Given the description of an element on the screen output the (x, y) to click on. 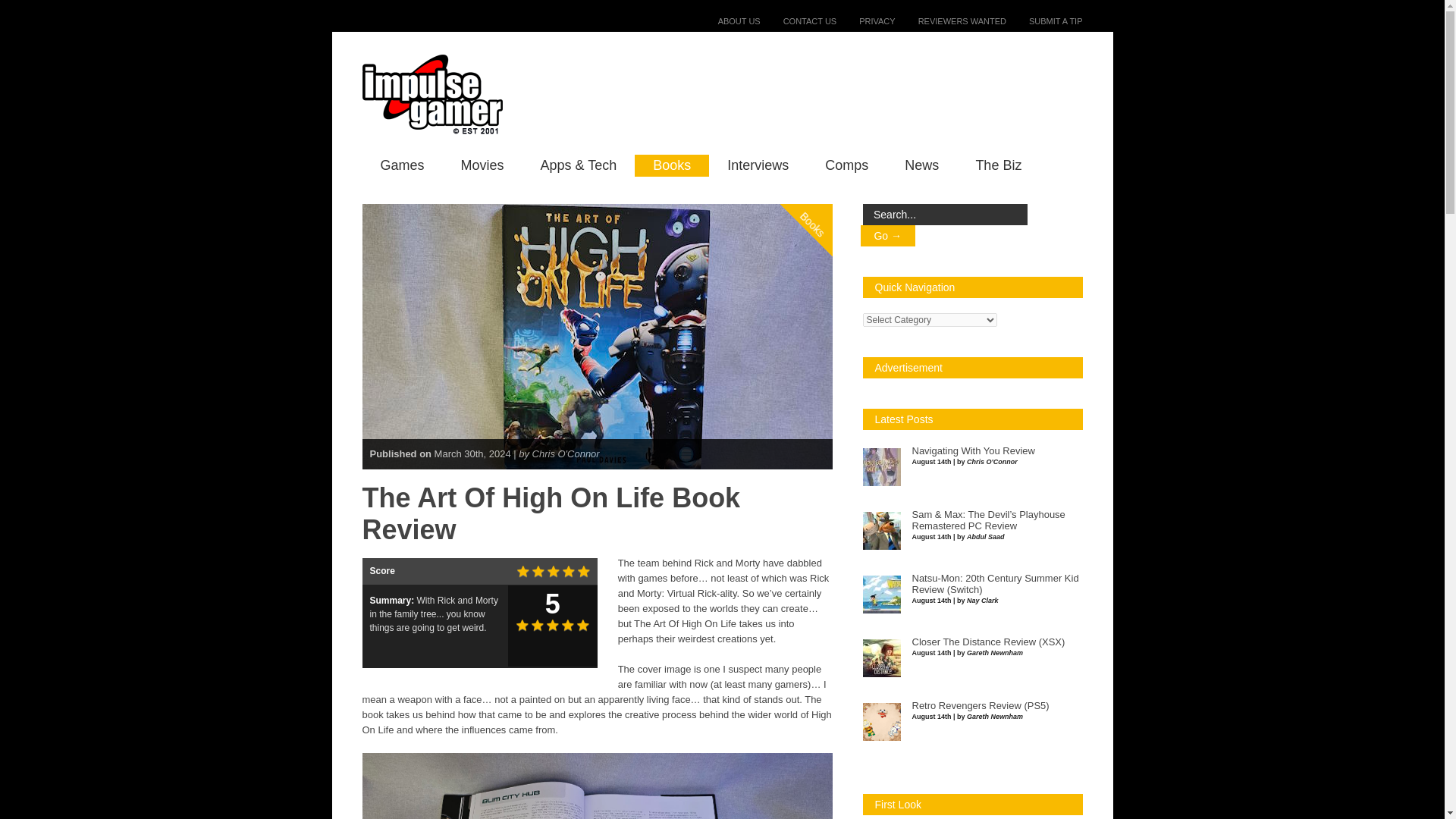
Search... (945, 214)
CONTACT US (798, 20)
Navigating With You Review (972, 450)
Movies (482, 165)
Games (402, 165)
PRIVACY (865, 20)
REVIEWERS WANTED (950, 20)
SUBMIT A TIP (1044, 20)
Search... (945, 214)
ABOUT US (727, 20)
